Given the description of an element on the screen output the (x, y) to click on. 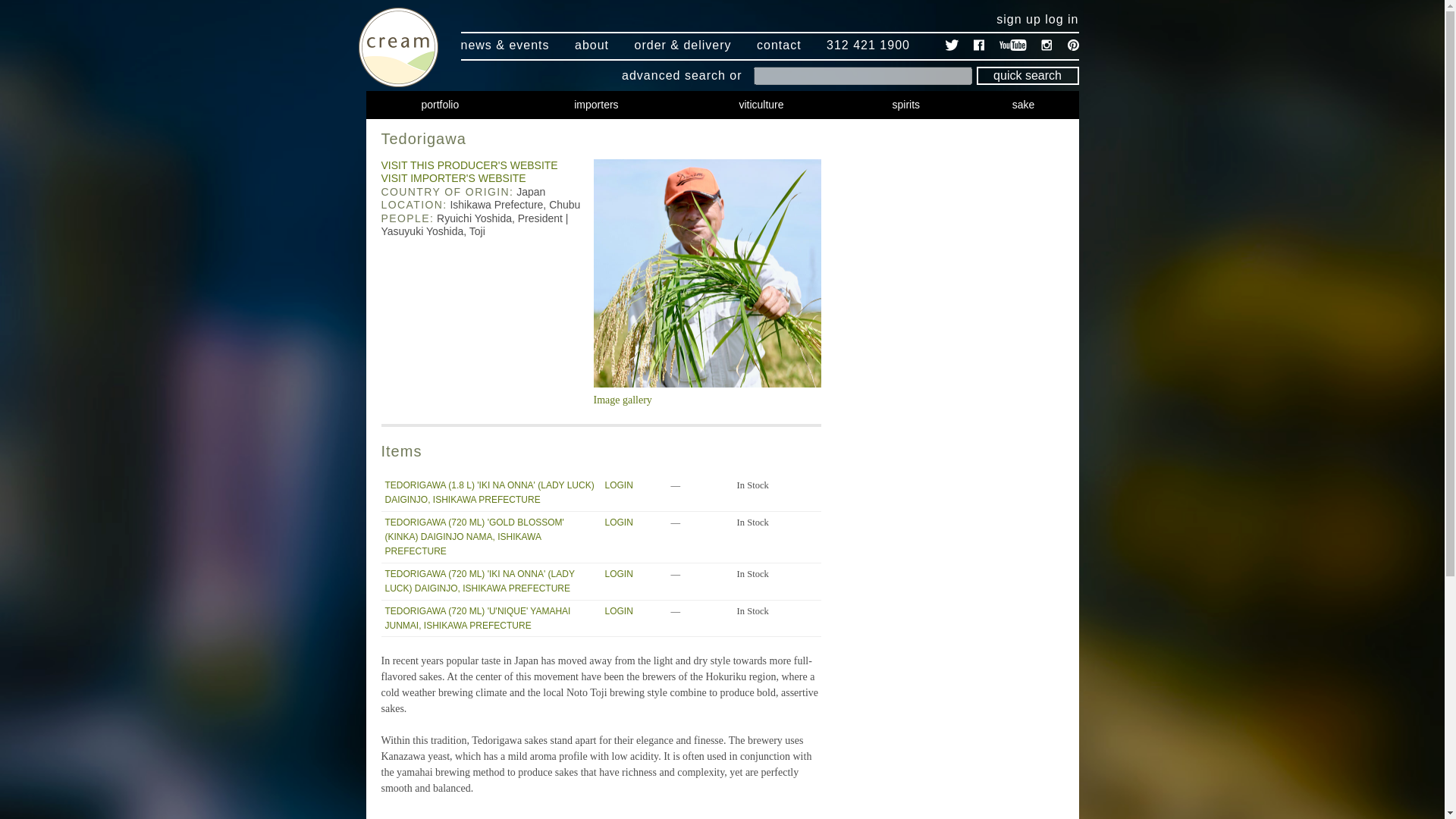
YouTube video player (592, 815)
LOGIN (619, 521)
VISIT IMPORTER'S WEBSITE (452, 177)
Facebook (979, 44)
portfolio (439, 104)
sake (1023, 104)
Harvest at Tedorigawa (706, 392)
Login for pricing (619, 484)
viticulture (760, 104)
Login for pricing (619, 521)
Login for pricing (619, 573)
spirits (906, 104)
Image gallery (706, 392)
LOGIN (619, 484)
importers (595, 104)
